Given the description of an element on the screen output the (x, y) to click on. 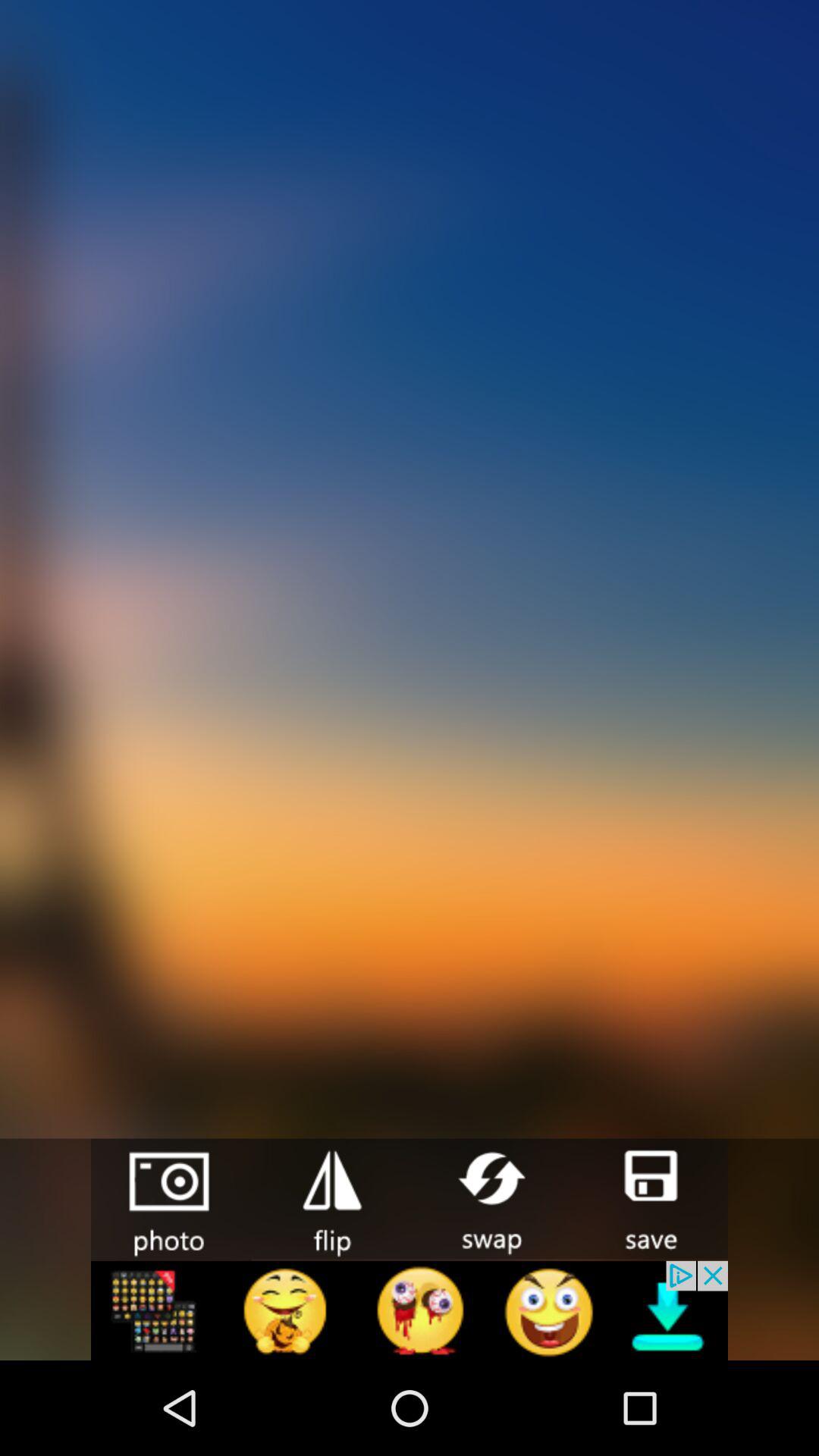
setting page (330, 1198)
